Given the description of an element on the screen output the (x, y) to click on. 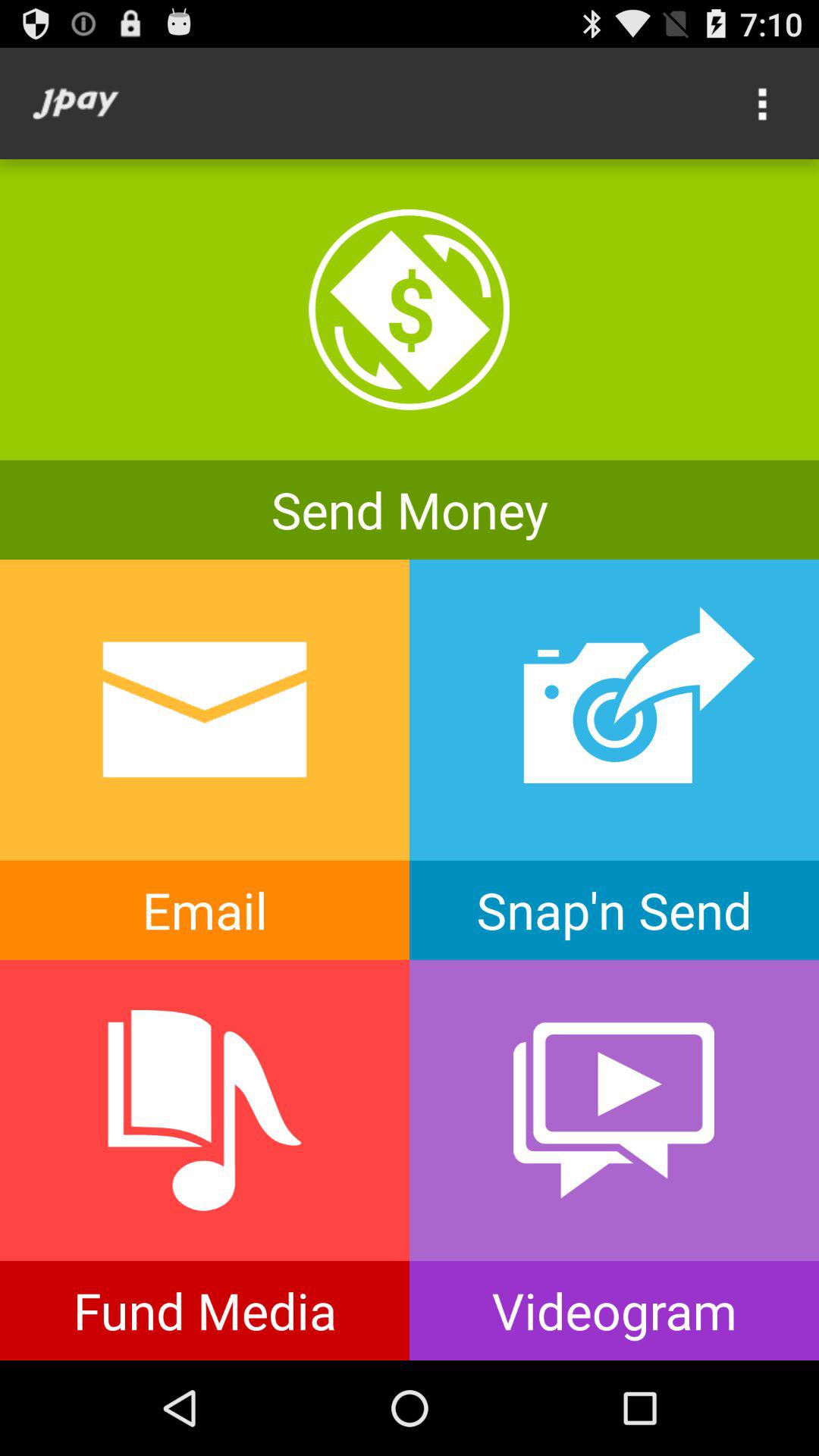
send money (409, 359)
